Given the description of an element on the screen output the (x, y) to click on. 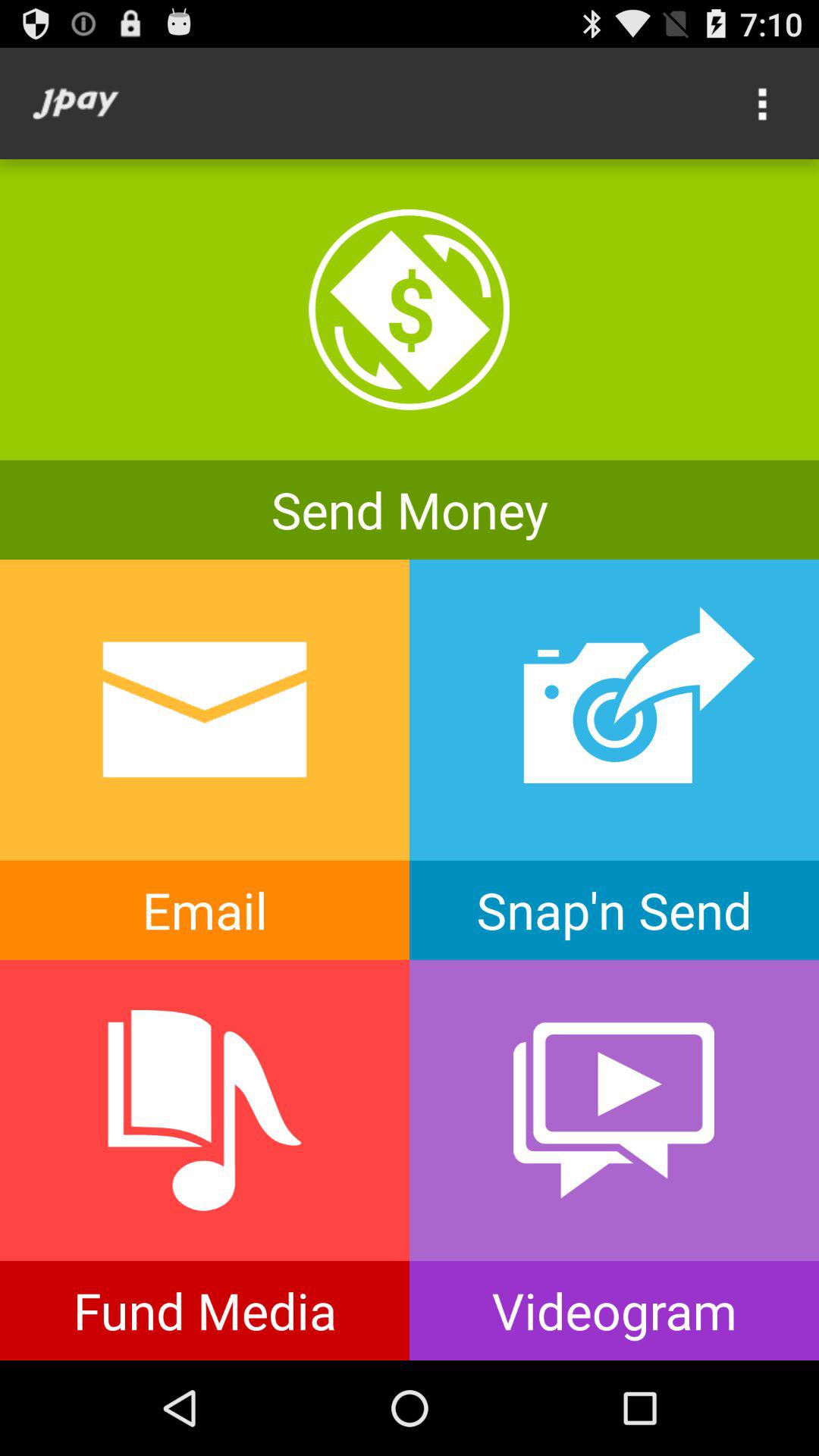
send money (409, 359)
